Given the description of an element on the screen output the (x, y) to click on. 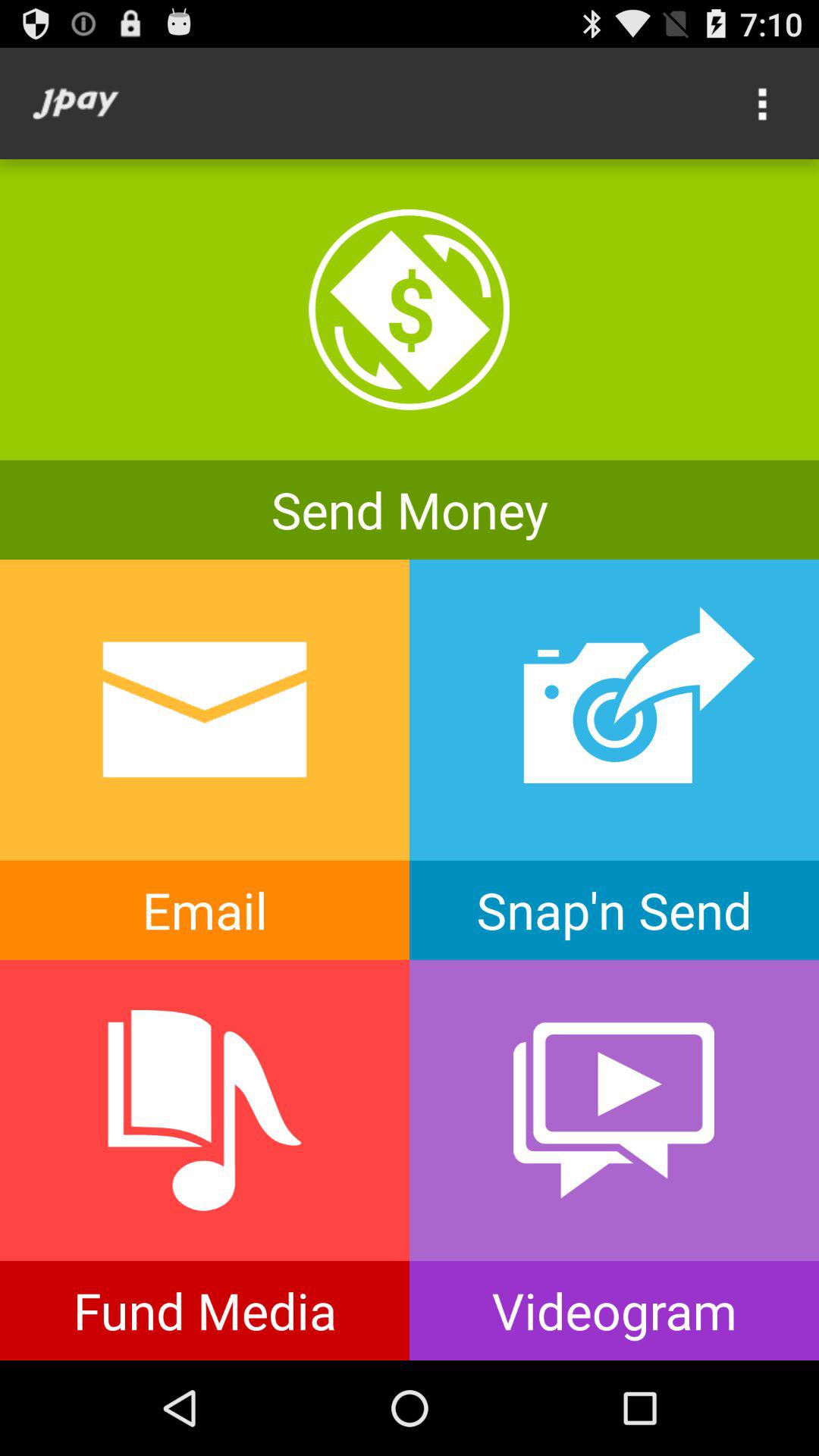
send money (409, 359)
